Given the description of an element on the screen output the (x, y) to click on. 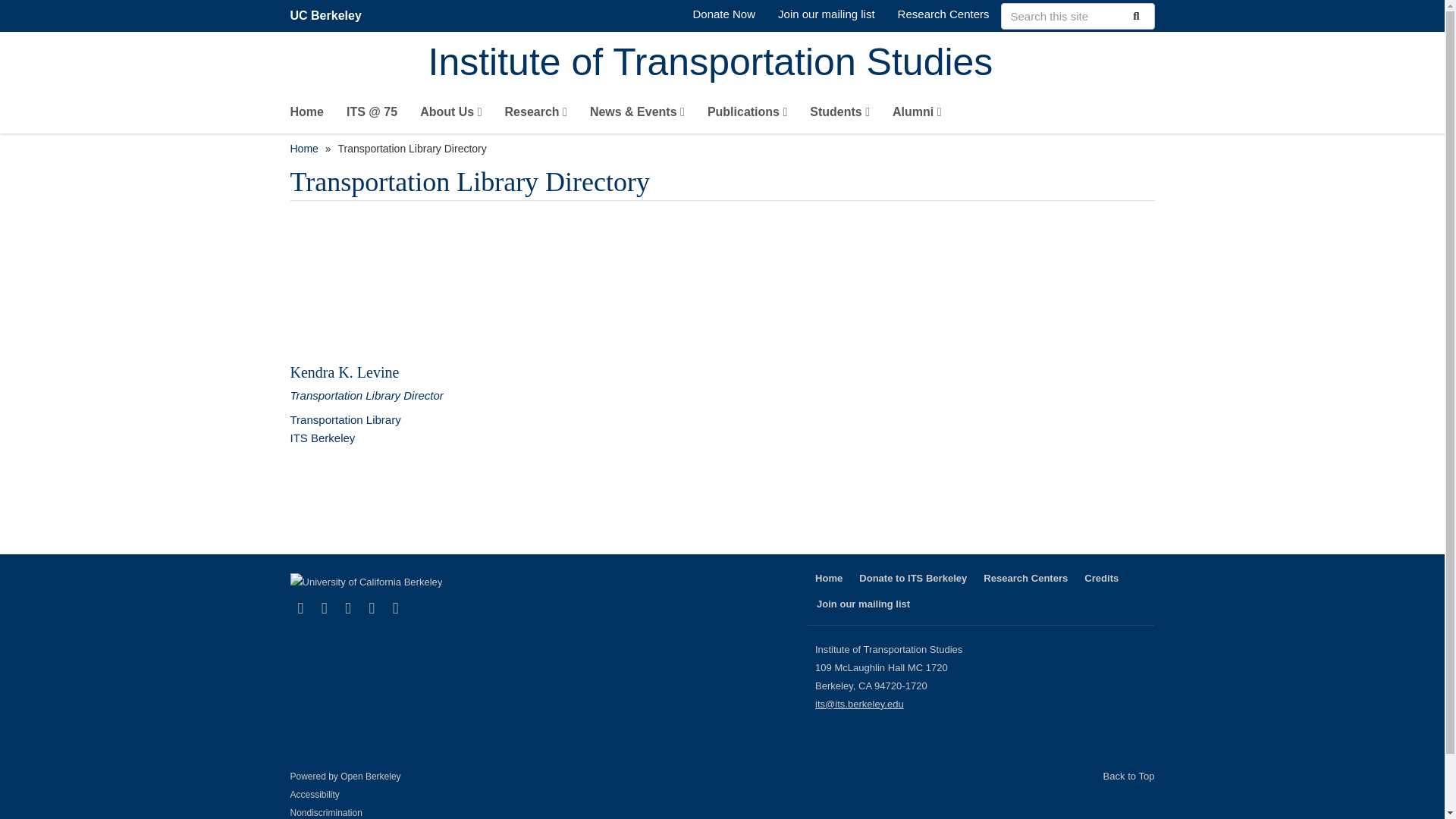
Submit Search (1133, 15)
Donate to ITS Berkeley through Berkeley Gives (724, 14)
Institute of Transportation Studies (791, 63)
About Us (450, 115)
Publications (747, 115)
Research (536, 115)
Home (306, 115)
Research (536, 115)
Home (791, 63)
UC Berkeley (325, 15)
